Given the description of an element on the screen output the (x, y) to click on. 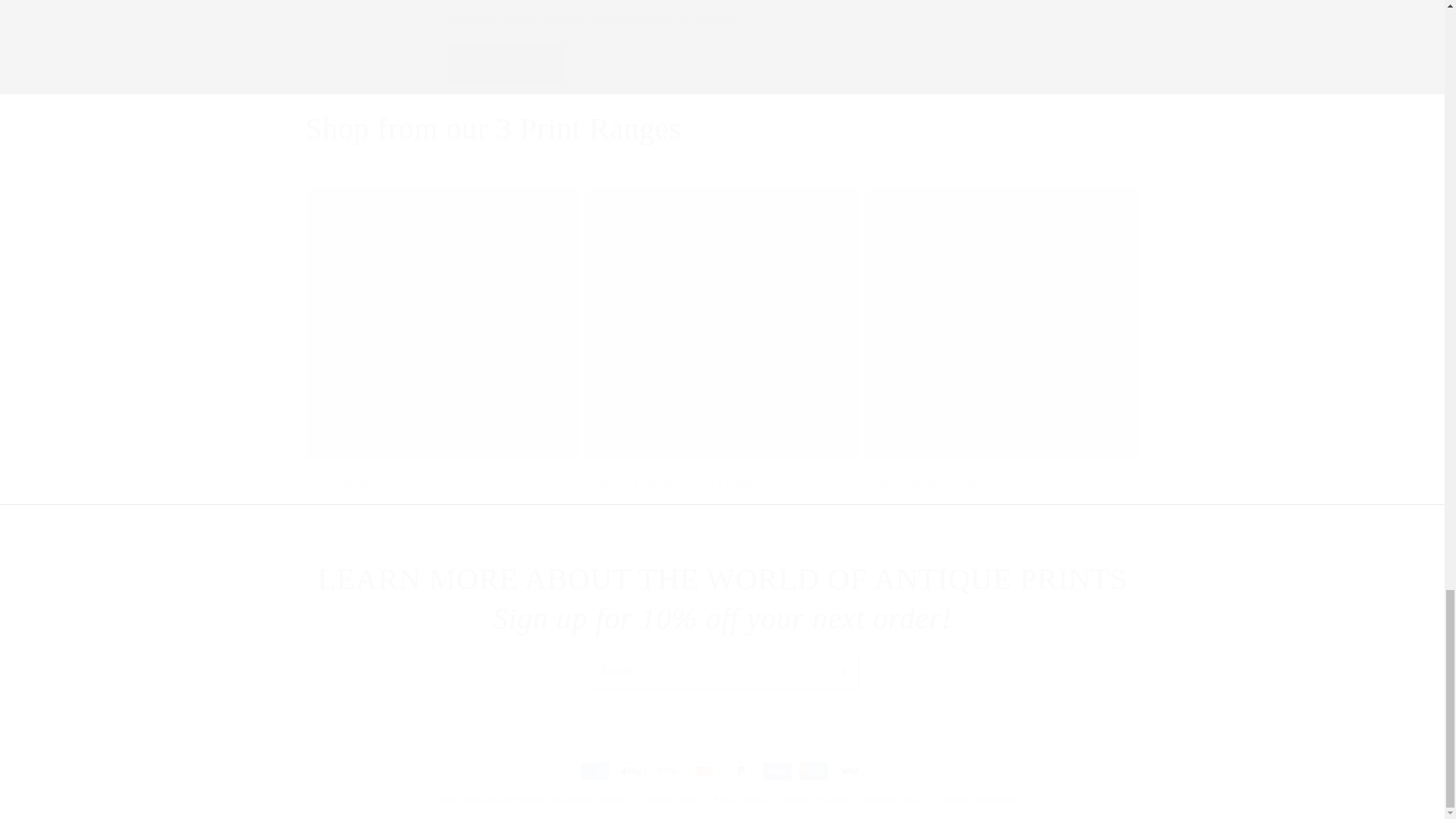
Post comment (506, 63)
Shop from our 3 Print Ranges (492, 128)
